Given the description of an element on the screen output the (x, y) to click on. 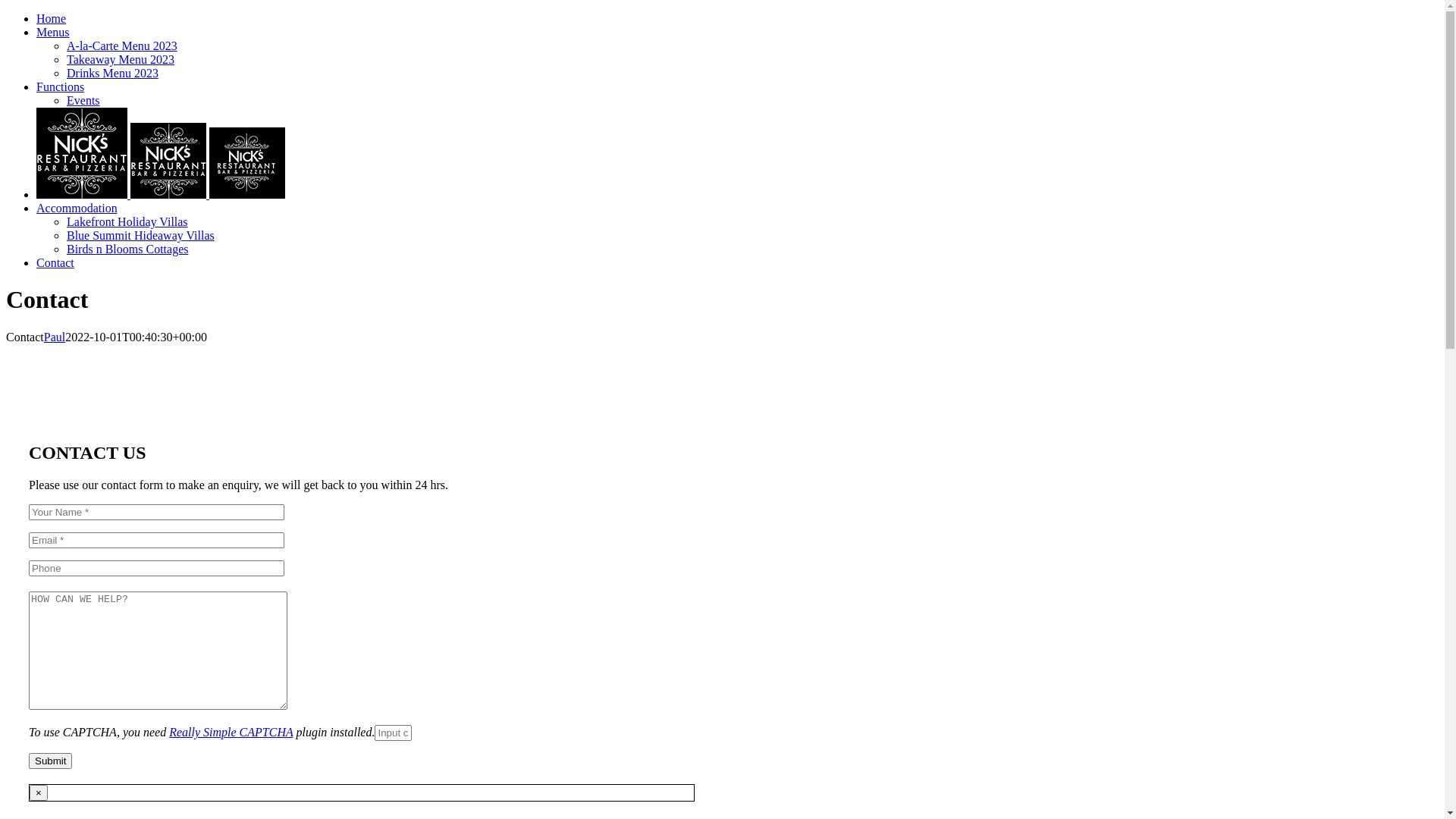
Really Simple CAPTCHA Element type: text (230, 731)
Skip to content Element type: text (5, 11)
Birds n Blooms Cottages Element type: text (127, 248)
Contact Element type: text (55, 262)
Drinks Menu 2023 Element type: text (112, 72)
Submit Element type: text (50, 760)
Accommodation Element type: text (76, 207)
A-la-Carte Menu 2023 Element type: text (121, 45)
Events Element type: text (83, 100)
Menus Element type: text (52, 31)
Takeaway Menu 2023 Element type: text (120, 59)
Blue Summit Hideaway Villas Element type: text (140, 235)
Lakefront Holiday Villas Element type: text (127, 221)
Paul Element type: text (54, 336)
Functions Element type: text (60, 86)
Home Element type: text (50, 18)
